Given the description of an element on the screen output the (x, y) to click on. 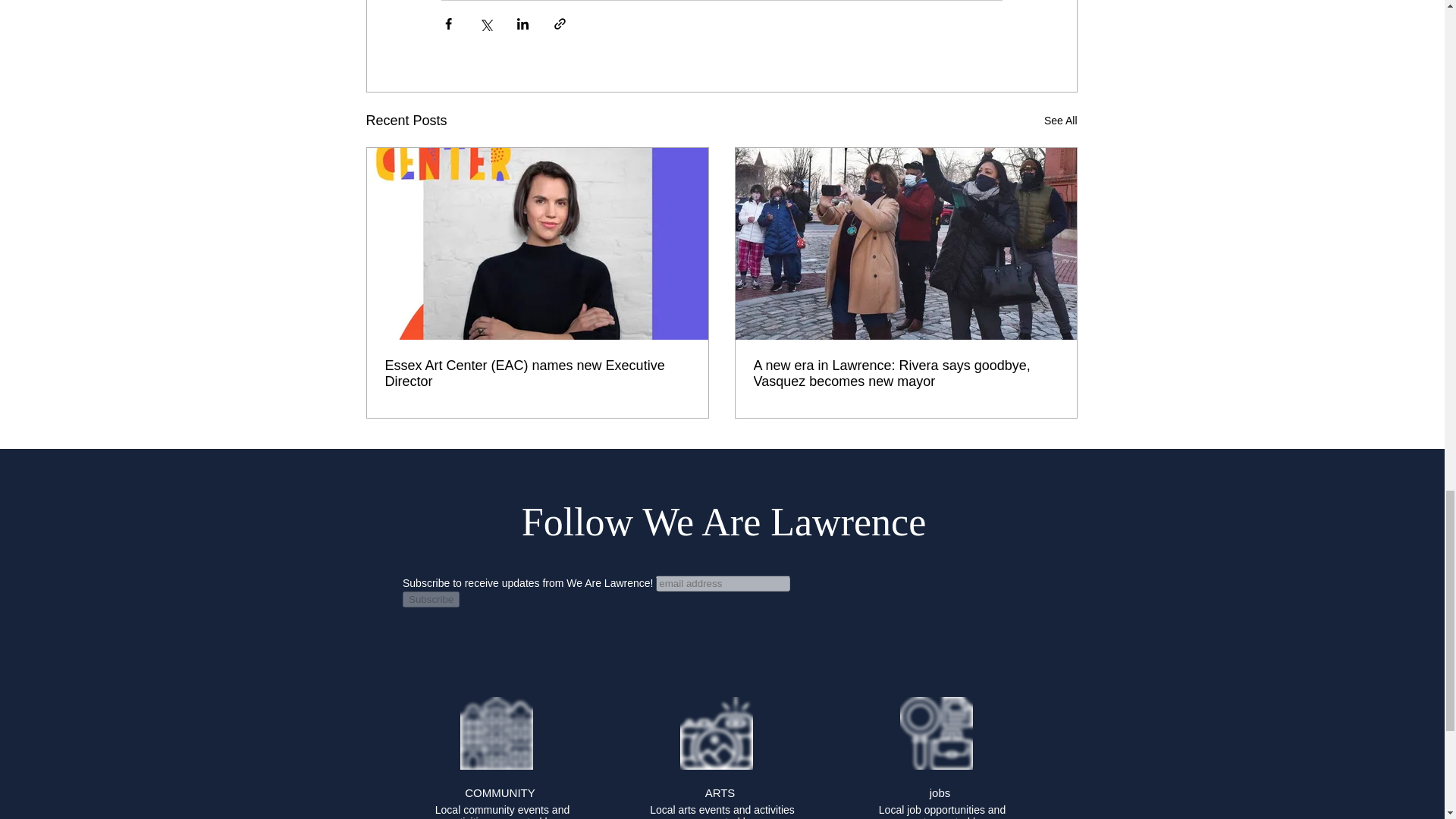
Embedded Content (721, 614)
